Given the description of an element on the screen output the (x, y) to click on. 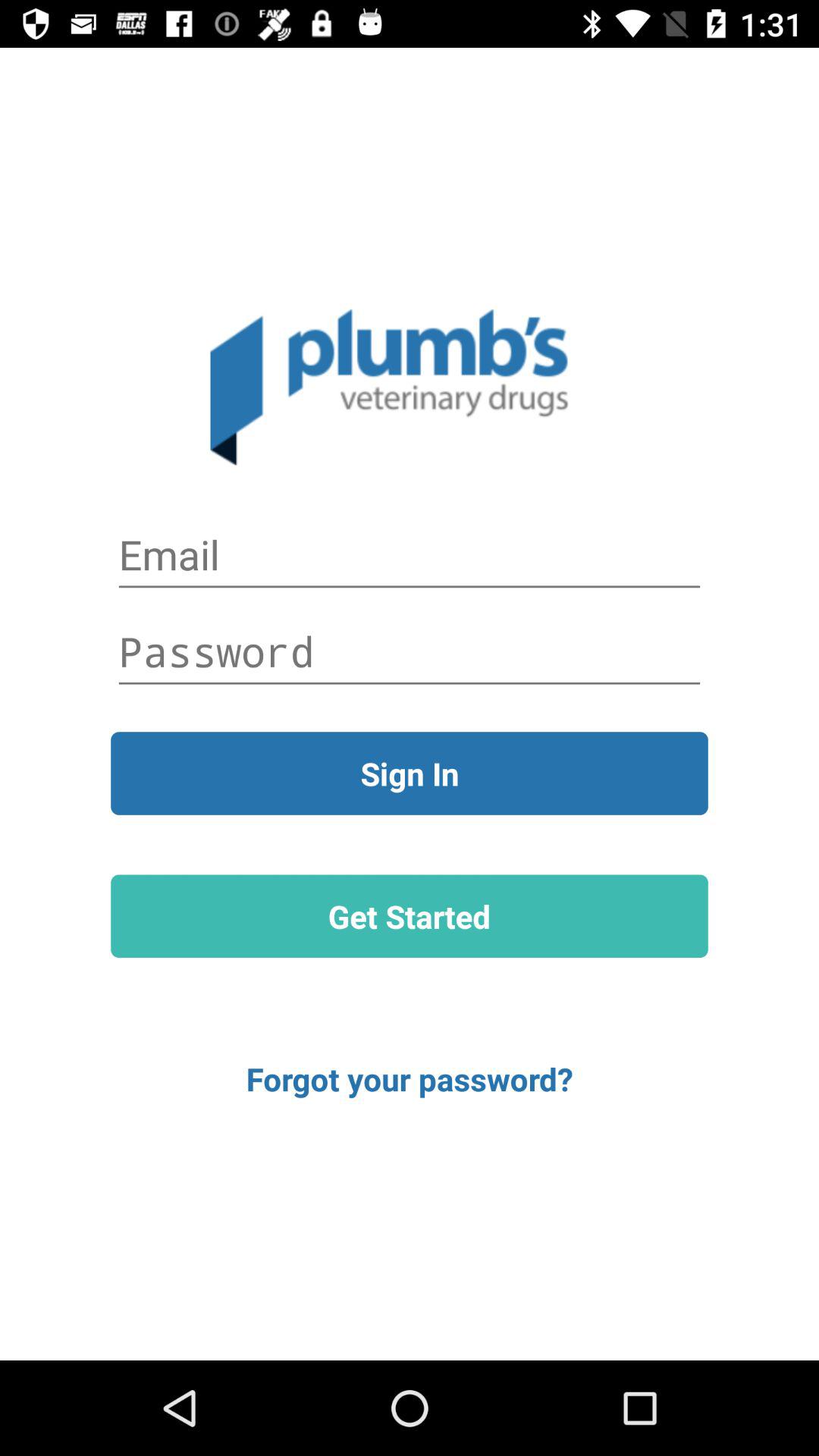
go to password (409, 651)
